Given the description of an element on the screen output the (x, y) to click on. 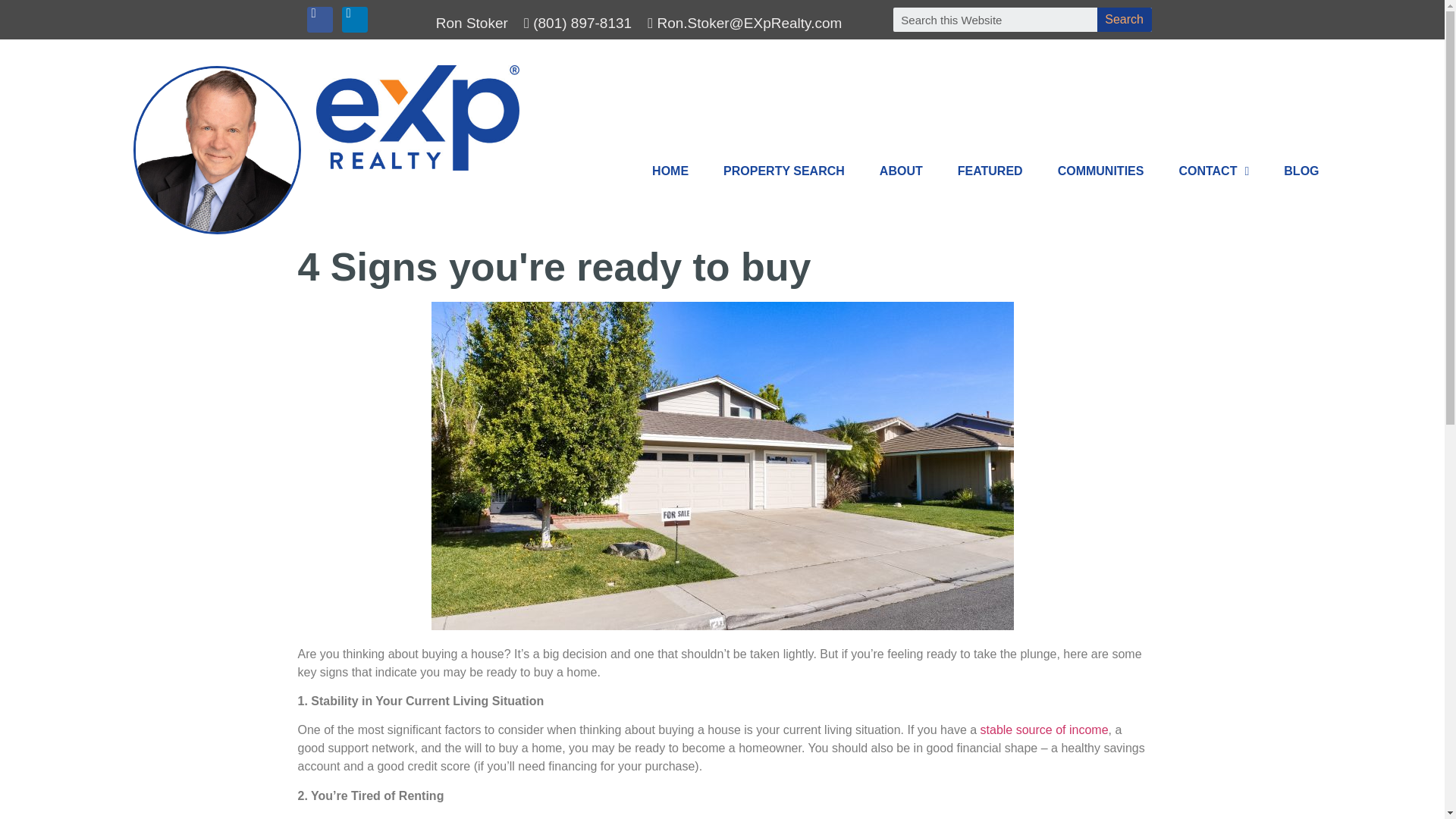
HOME (670, 171)
CONTACT (1213, 171)
Search (1124, 19)
Search (1124, 19)
Search (995, 19)
BLOG (1300, 171)
ABOUT (900, 171)
stable source of income (1043, 729)
COMMUNITIES (1100, 171)
FEATURED (990, 171)
